Given the description of an element on the screen output the (x, y) to click on. 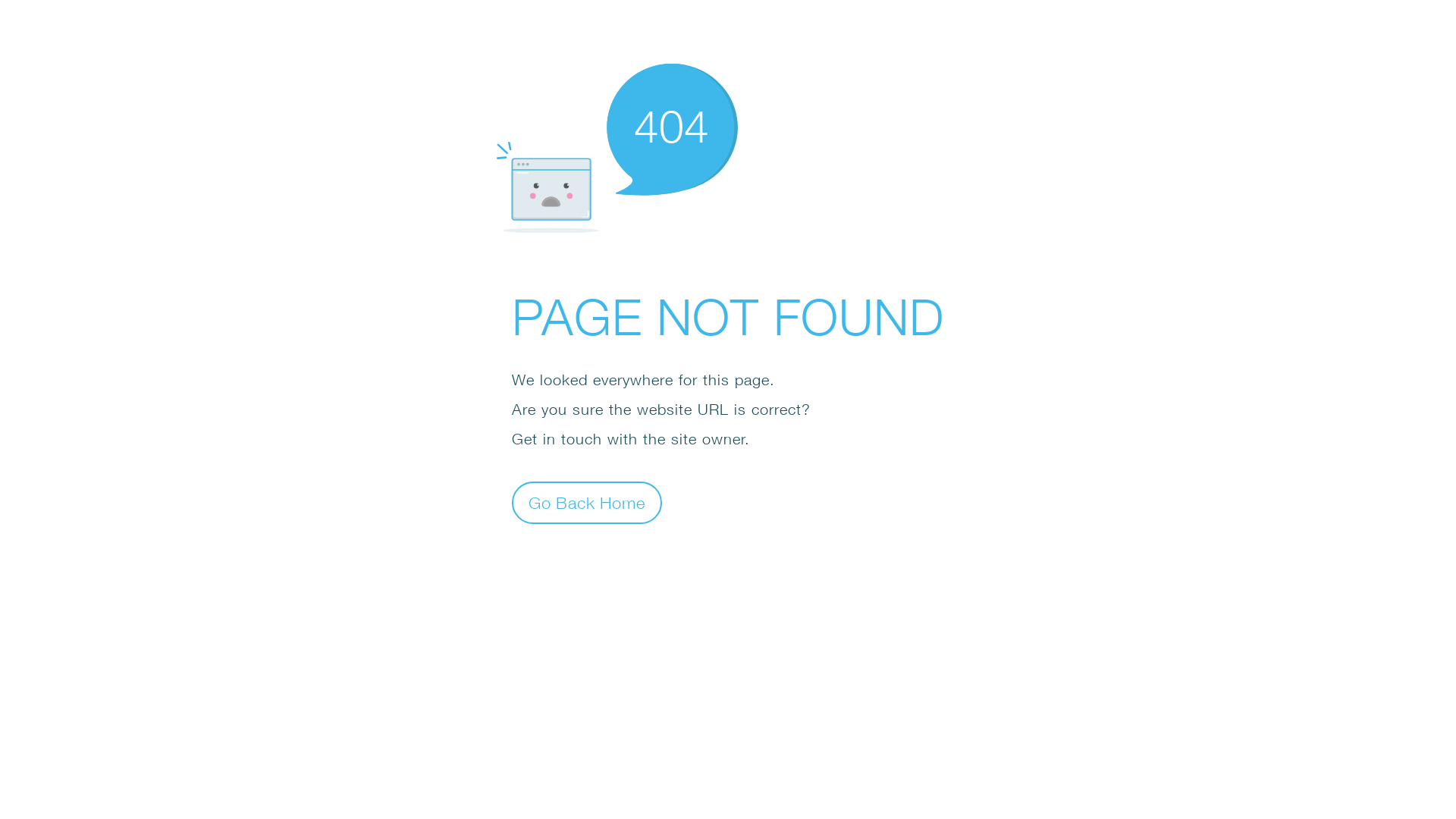
Go Back Home Element type: text (586, 502)
